Given the description of an element on the screen output the (x, y) to click on. 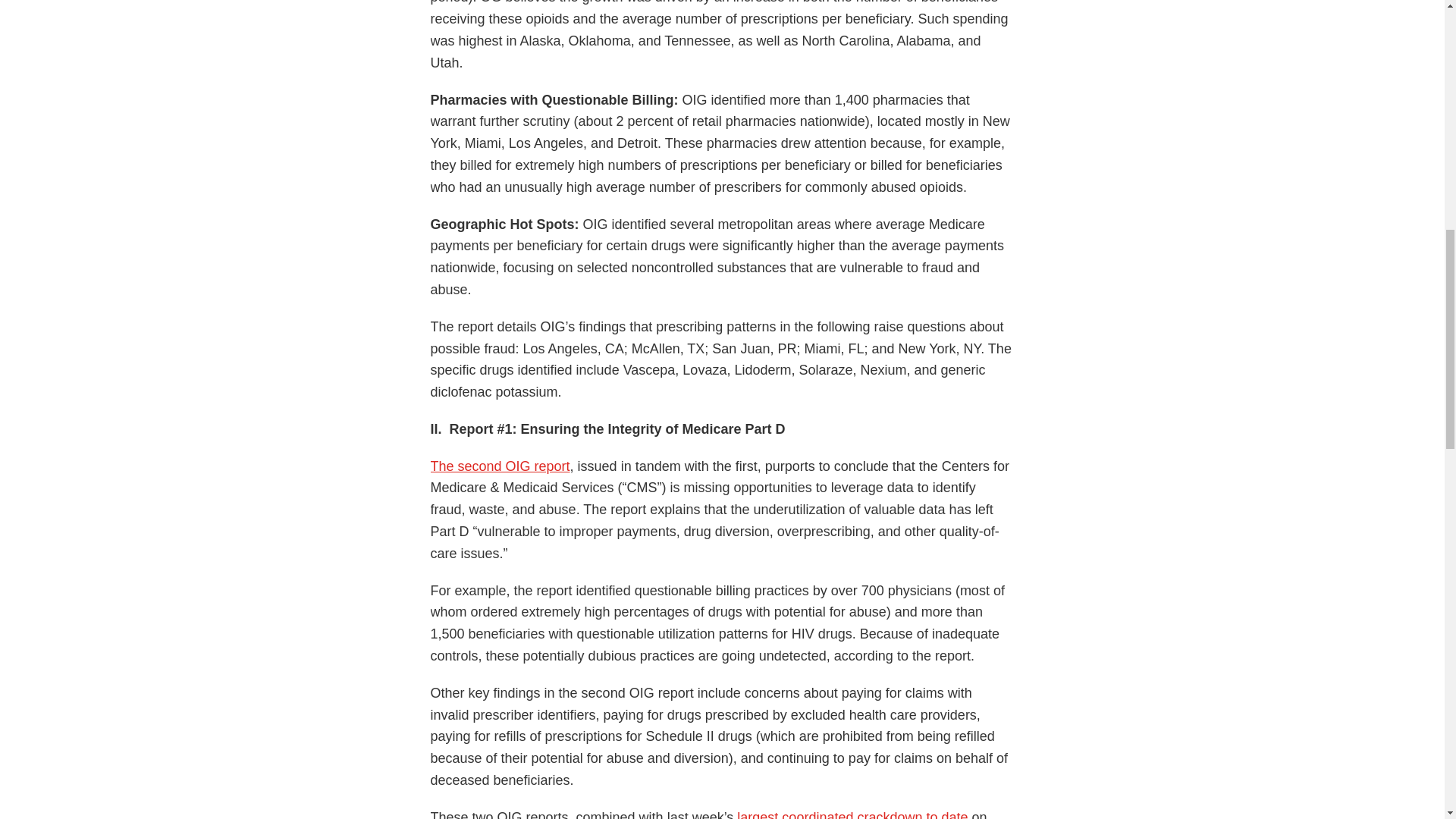
The second OIG report (500, 466)
largest coordinated crackdown to date (852, 814)
OIG Report (500, 466)
Health law pulse (852, 814)
